Given the description of an element on the screen output the (x, y) to click on. 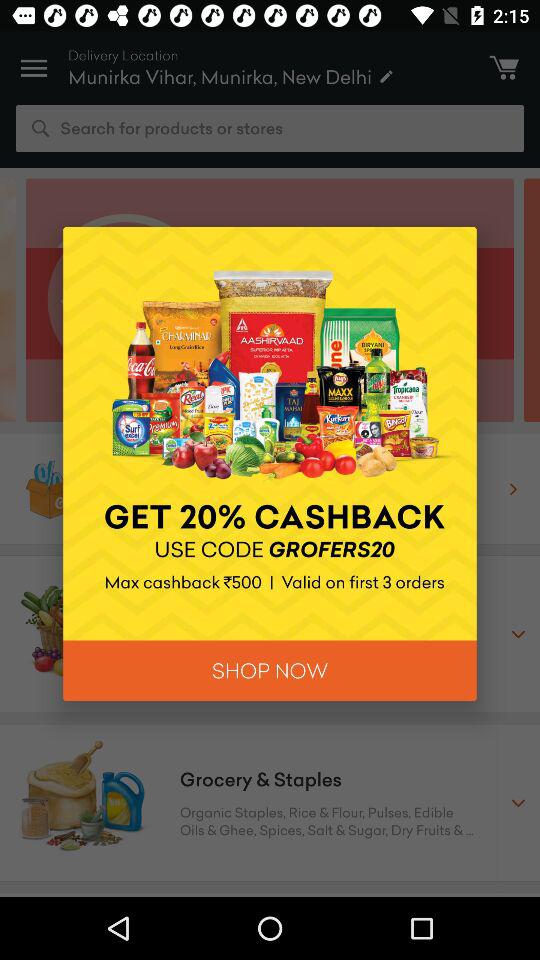
press the shop now icon (269, 670)
